Given the description of an element on the screen output the (x, y) to click on. 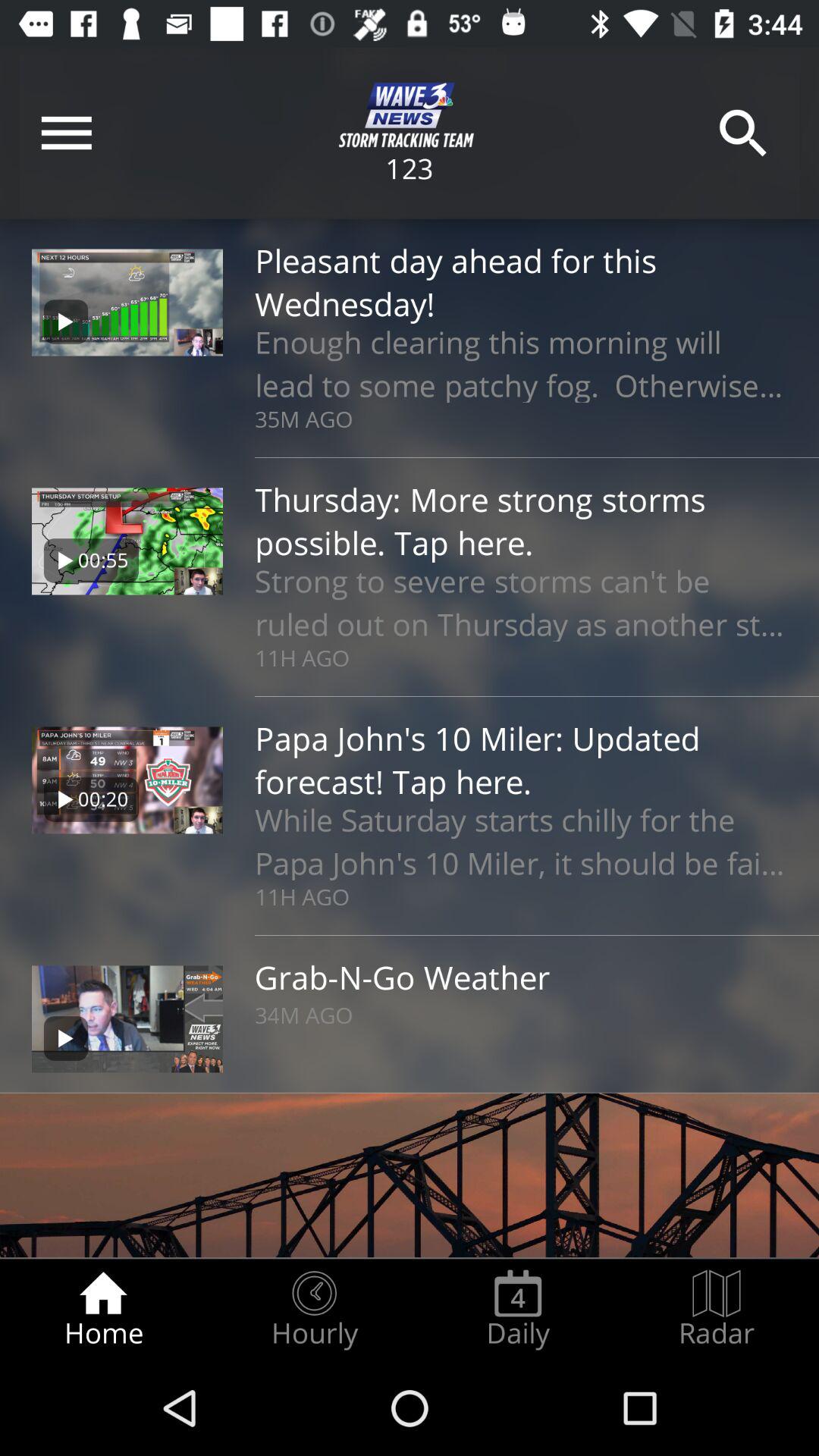
press item to the right of the hourly icon (518, 1309)
